Given the description of an element on the screen output the (x, y) to click on. 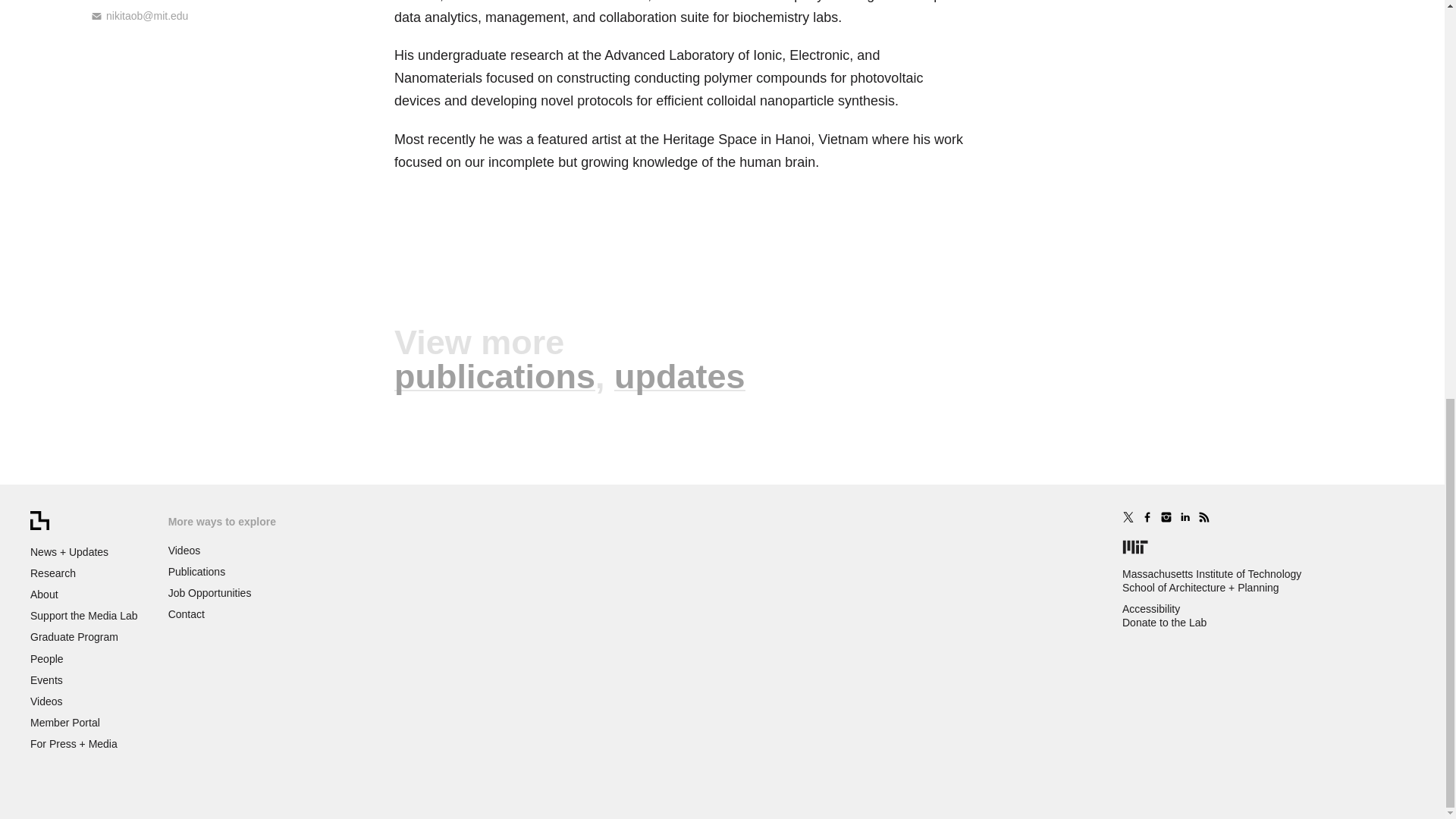
Research (52, 573)
updates (679, 376)
publications (494, 376)
Support the Media Lab (84, 615)
About (44, 594)
Graduate Program (73, 636)
People (47, 658)
